Given the description of an element on the screen output the (x, y) to click on. 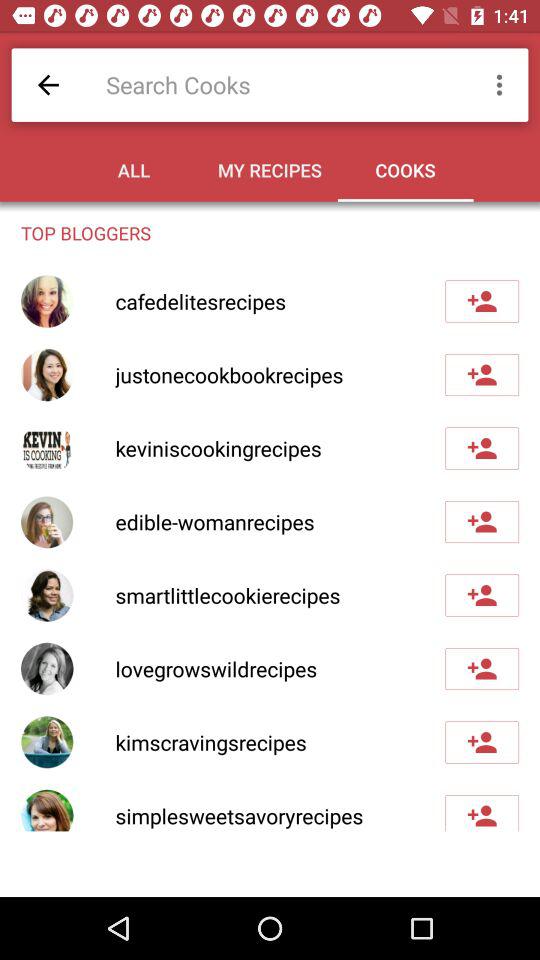
follow this blogger (482, 742)
